Given the description of an element on the screen output the (x, y) to click on. 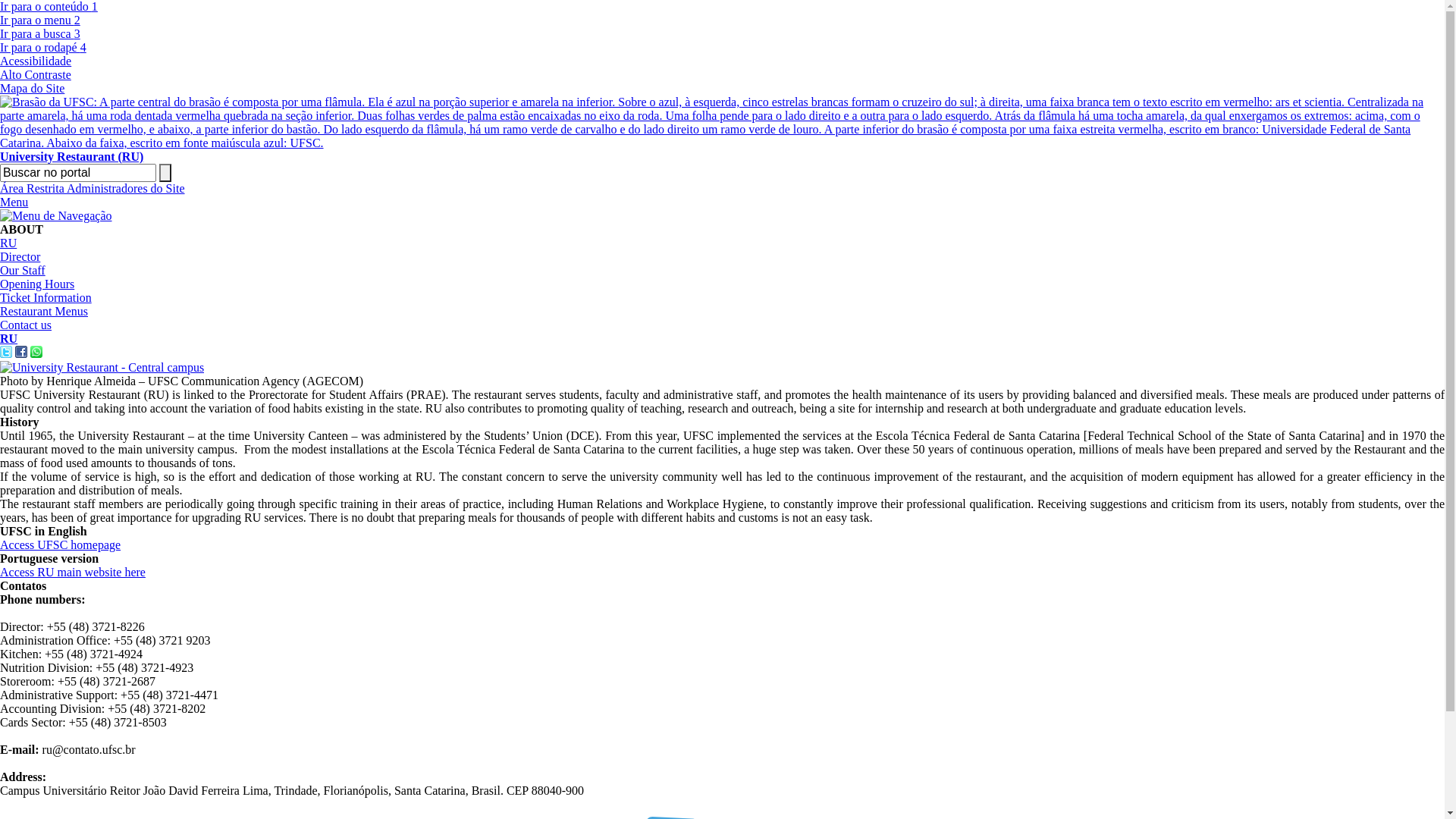
Compartilhar no WhatsApp Element type: hover (36, 353)
Access UFSC homepage Element type: text (60, 544)
Ir para o menu 2 Element type: text (40, 19)
Access RU main website here Element type: text (72, 571)
Director Element type: text (20, 256)
Acessibilidade Element type: text (35, 60)
Compartilhar no Twitter Element type: hover (6, 353)
Menu Element type: text (14, 201)
Mapa do Site Element type: text (32, 87)
Ticket Information Element type: text (45, 297)
Compartilhar no Facebook Element type: hover (21, 353)
Opening Hours Element type: text (37, 283)
Restaurant Menus Element type: text (43, 310)
Ir para a busca 3 Element type: text (40, 33)
University Restaurant (RU) Element type: text (722, 149)
Our Staff Element type: text (22, 269)
Administradores do Site Element type: text (125, 188)
RU Element type: text (8, 338)
RU Element type: text (8, 242)
Alto Contraste Element type: text (35, 74)
Contact us Element type: text (25, 324)
